Given the description of an element on the screen output the (x, y) to click on. 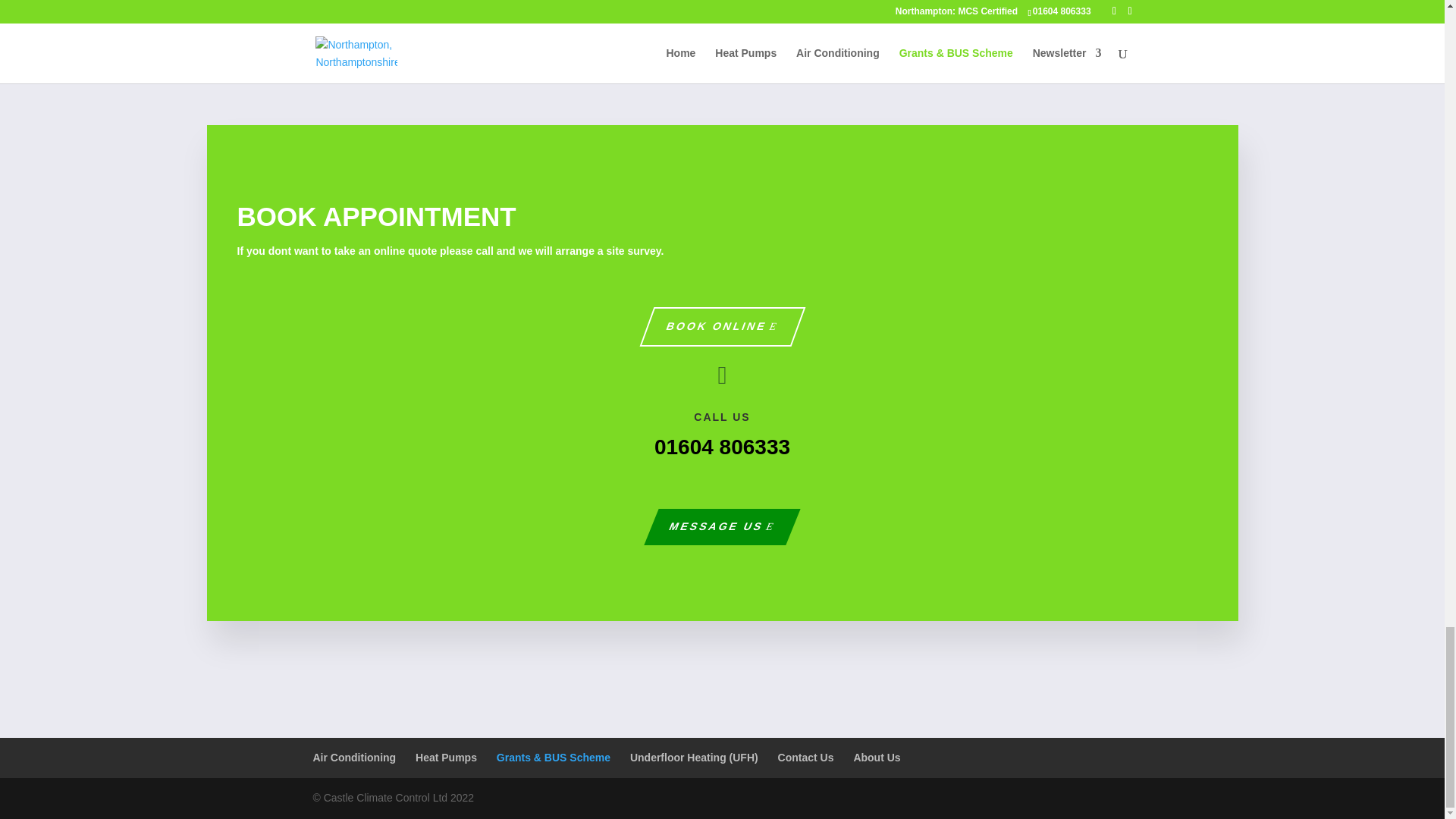
Heat Pumps (445, 757)
BOOK ONLINE (714, 326)
Contact Us (805, 757)
MESSAGE US (714, 526)
About Us (876, 757)
Air Conditioning (354, 757)
